Given the description of an element on the screen output the (x, y) to click on. 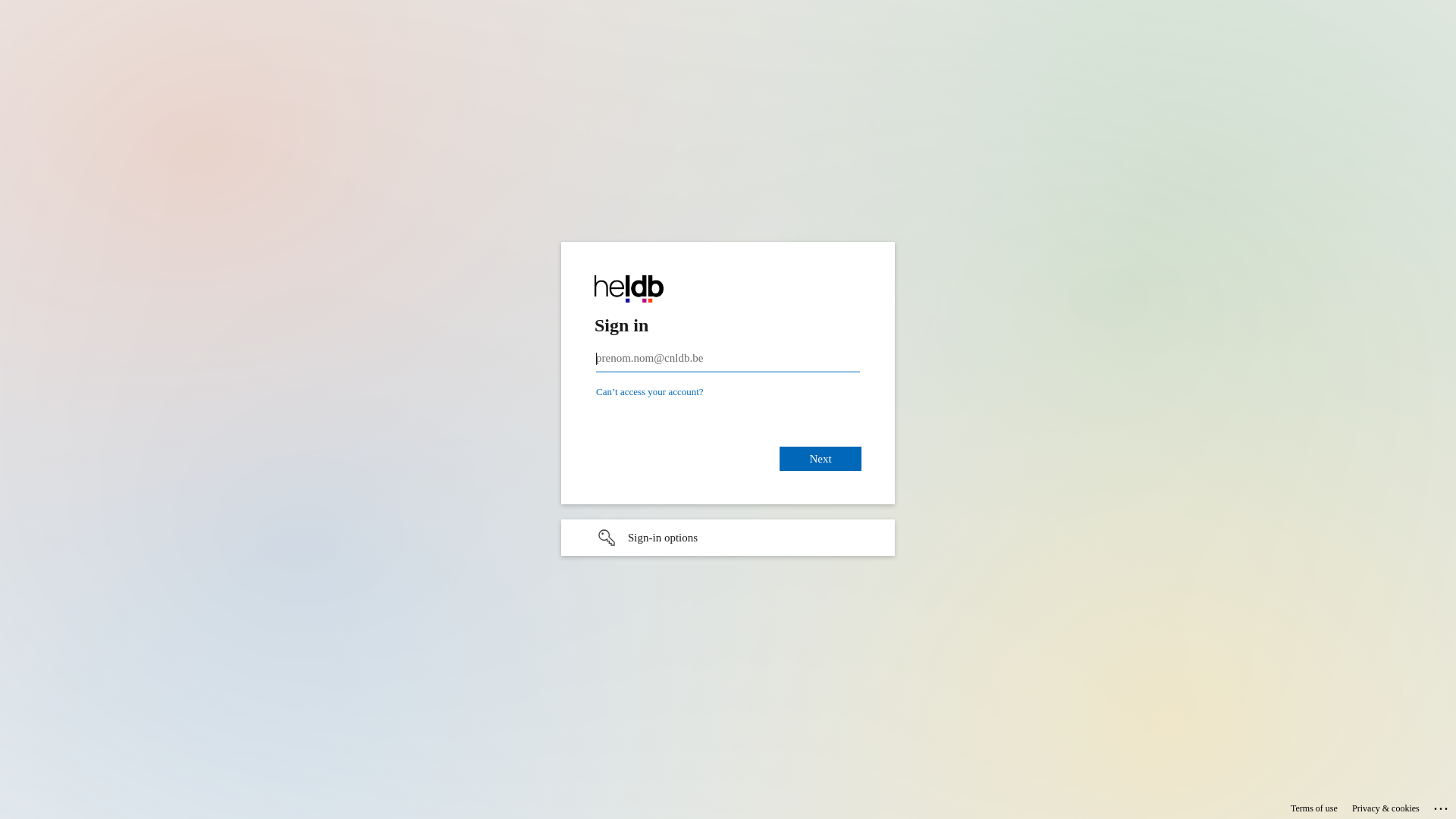
Next Element type: text (820, 458)
... Element type: text (1441, 805)
